Given the description of an element on the screen output the (x, y) to click on. 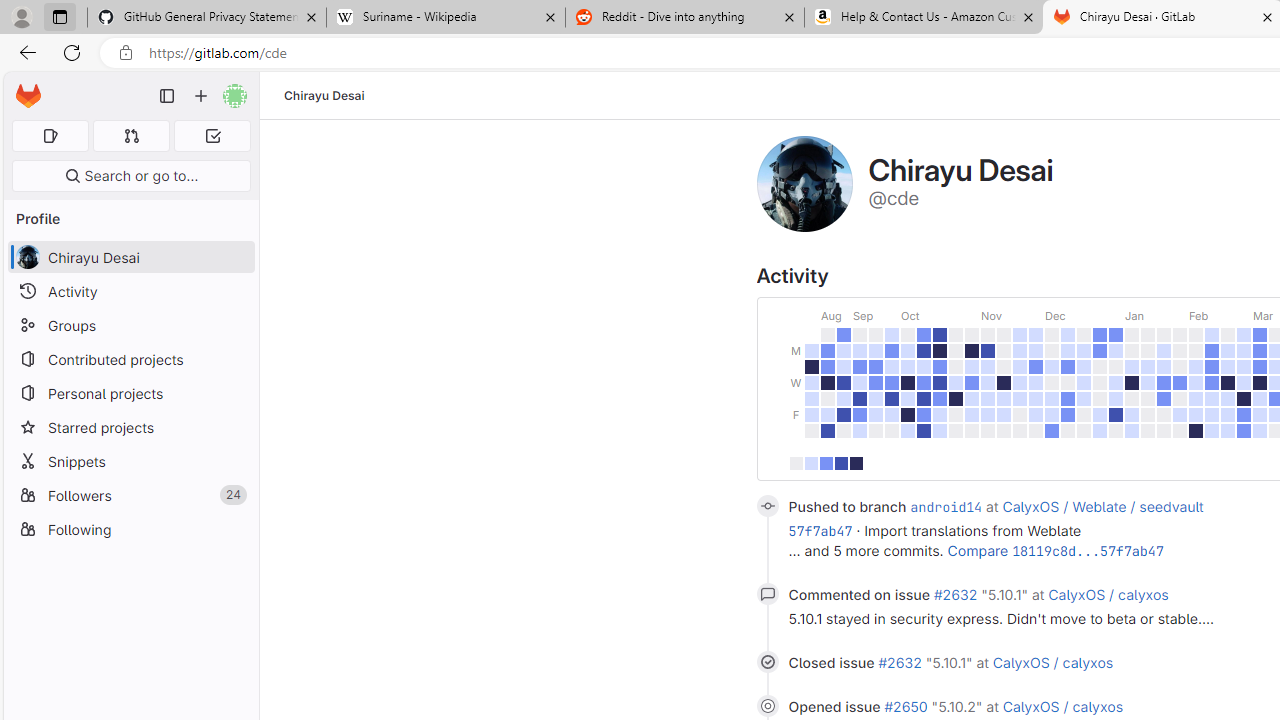
Contributed projects (130, 358)
Chirayu Desai (324, 95)
20-29 contributions (840, 463)
